Given the description of an element on the screen output the (x, y) to click on. 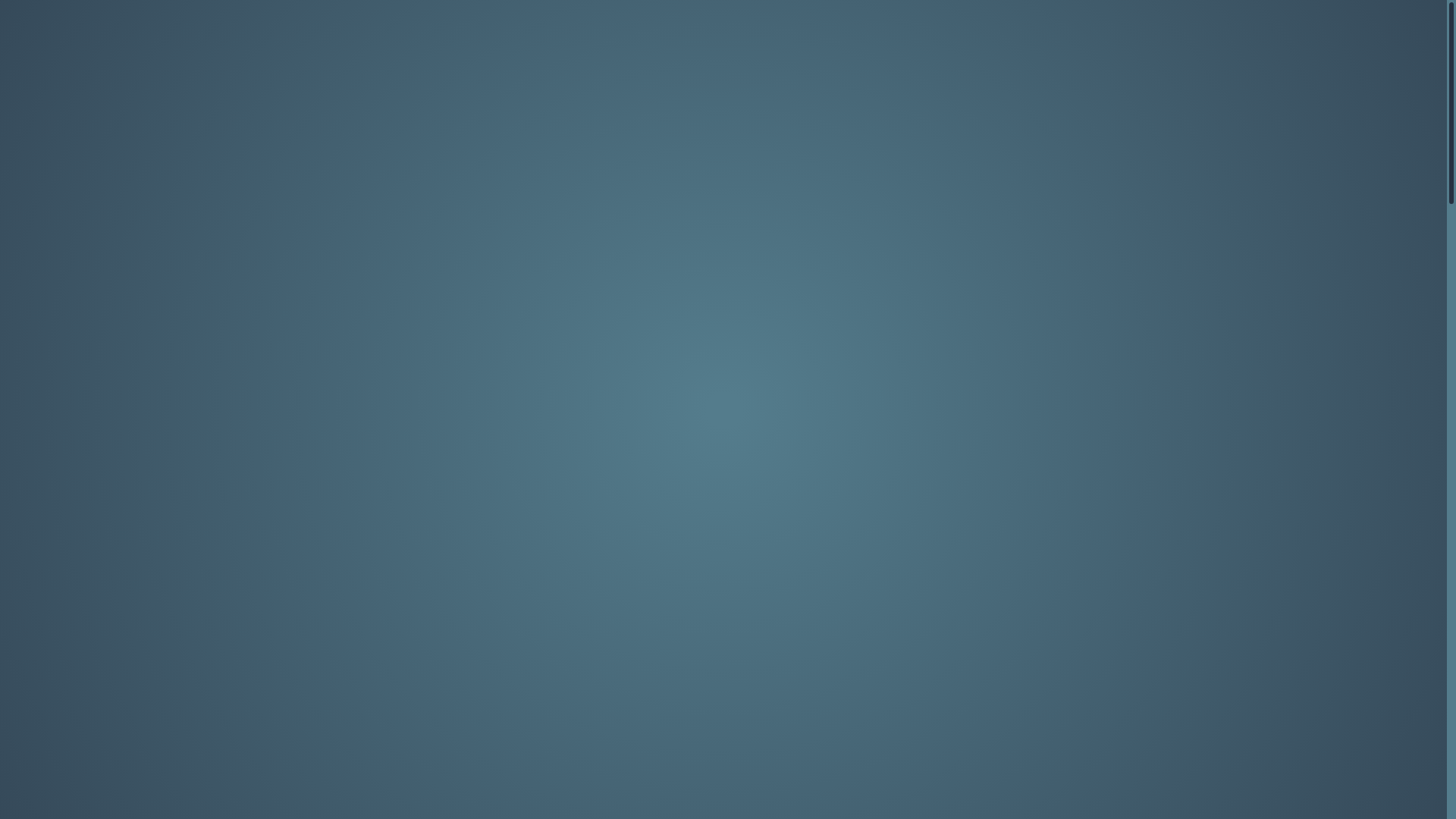
Surgical (425, 85)
Pay My Bill (1171, 19)
Contact (1269, 19)
Patient Portal (1377, 19)
